Given the description of an element on the screen output the (x, y) to click on. 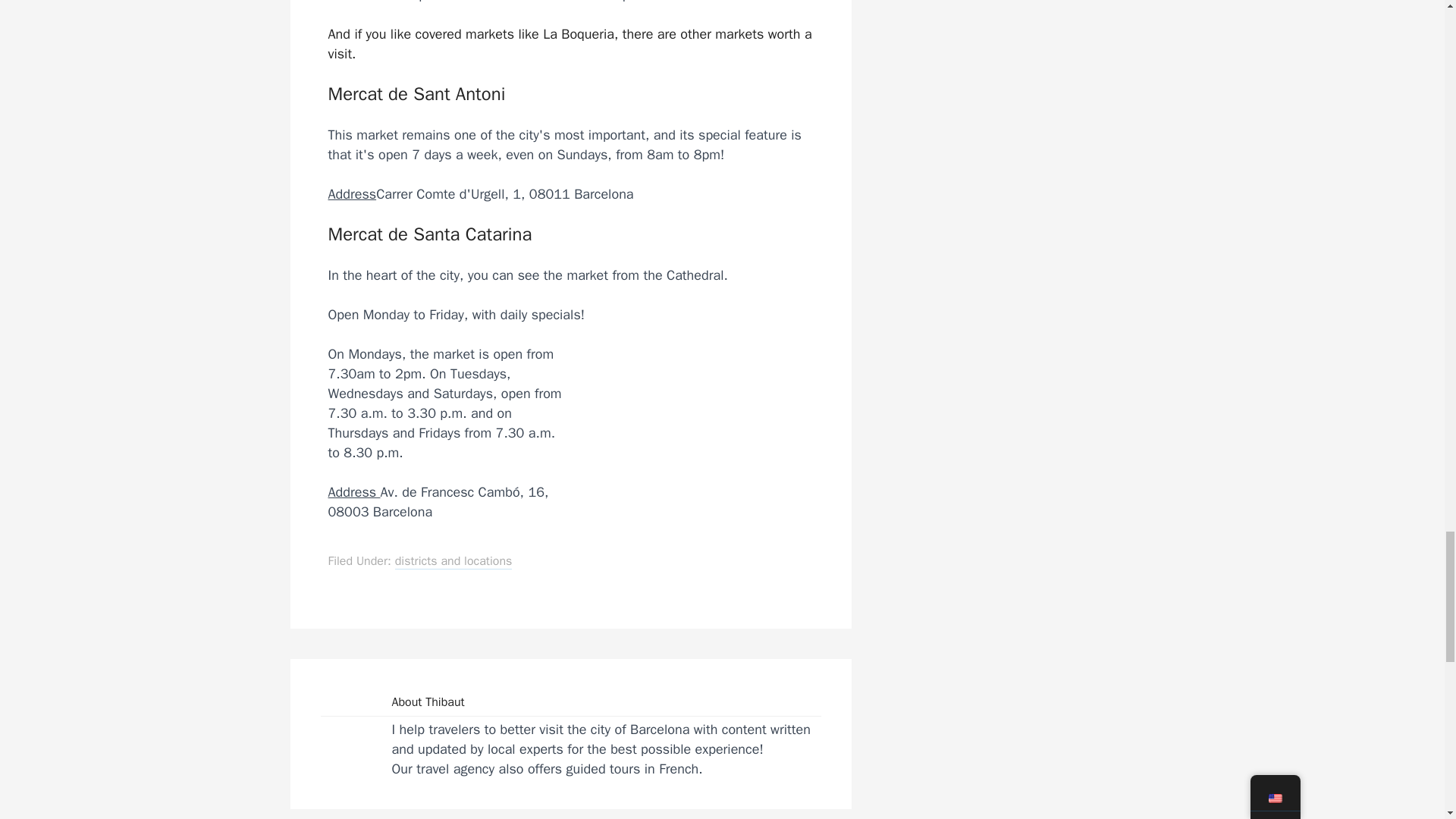
districts and locations (453, 561)
